Given the description of an element on the screen output the (x, y) to click on. 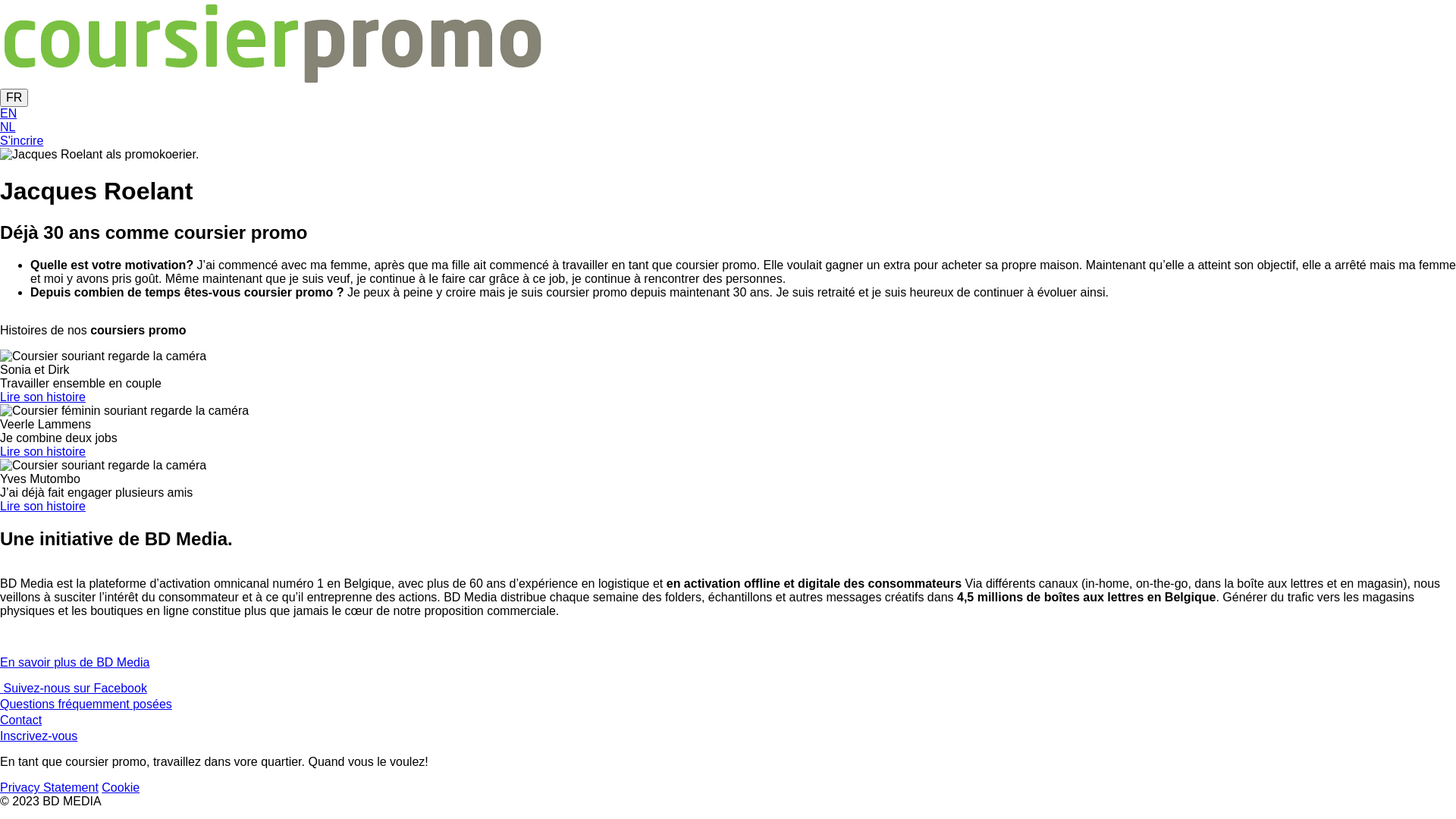
Veerle Lammens Element type: hover (124, 410)
Cookie Element type: text (120, 787)
Lire son histoire Element type: text (42, 505)
Suivez-nous sur Facebook Element type: text (74, 687)
NL Element type: text (7, 126)
En savoir plus de BD Media Element type: text (74, 661)
Inscrivez-vous Element type: text (38, 735)
Contact Element type: text (20, 719)
Sonia Moyaerts Element type: hover (103, 356)
Lire son histoire Element type: text (42, 451)
EN Element type: text (8, 112)
S'incrire Element type: text (21, 140)
Lire son histoire Element type: text (42, 396)
Aller au contenu principal Element type: text (0, 0)
Privacy Statement Element type: text (49, 787)
Yves Mutombo Element type: hover (103, 465)
FR Element type: text (14, 97)
